Given the description of an element on the screen output the (x, y) to click on. 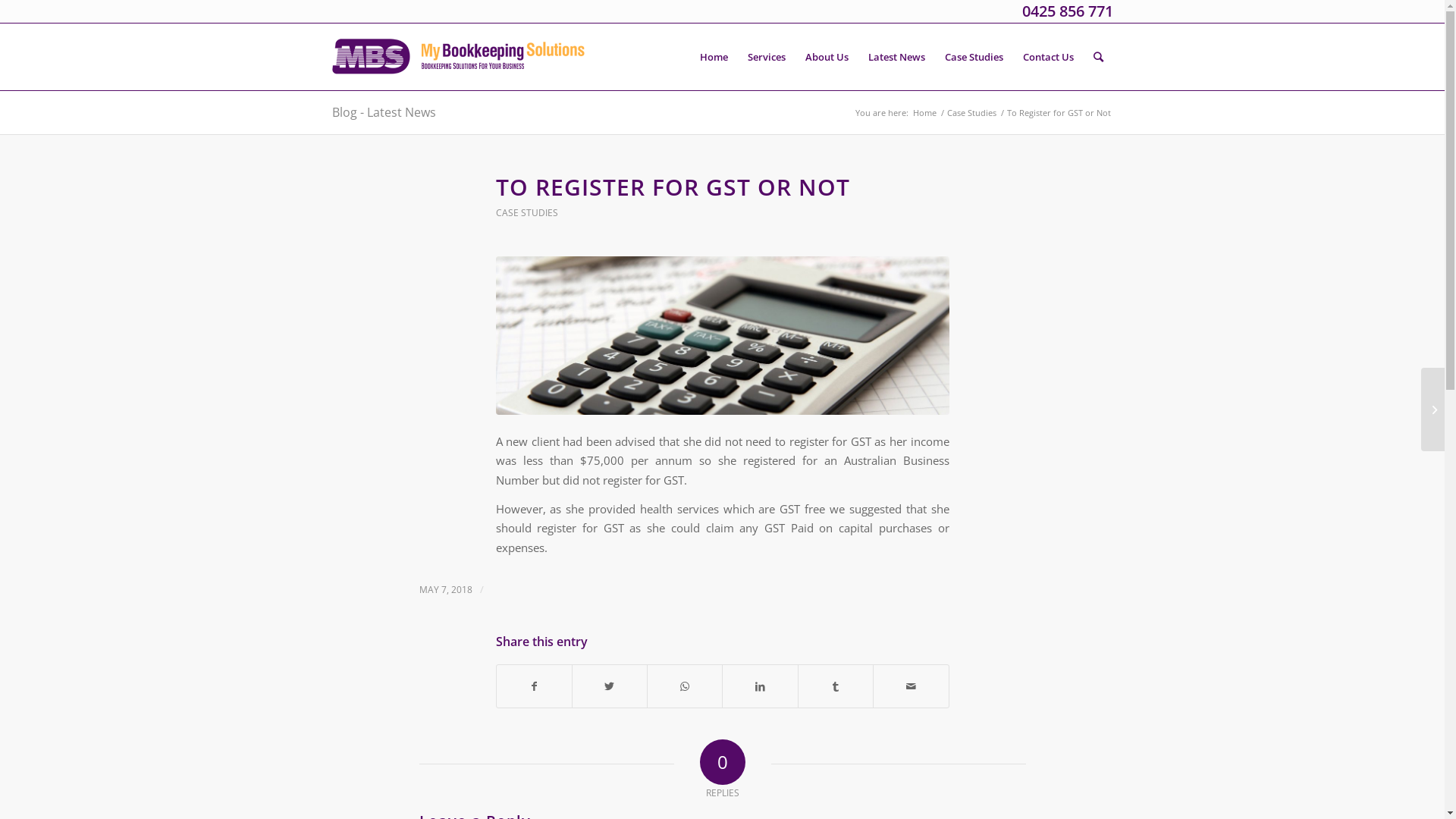
Home Element type: text (924, 112)
TO REGISTER FOR GST OR NOT Element type: text (672, 186)
Latest News Element type: text (896, 56)
Home Element type: text (713, 56)
0425 856 771 Element type: text (1067, 10)
Case Studies Element type: text (973, 56)
Services Element type: text (765, 56)
CASE STUDIES Element type: text (526, 212)
To Register for GST or Not Element type: hover (722, 335)
Case Studies Element type: text (971, 112)
Blog - Latest News Element type: text (384, 111)
Contact Us Element type: text (1048, 56)
About Us Element type: text (825, 56)
